Given the description of an element on the screen output the (x, y) to click on. 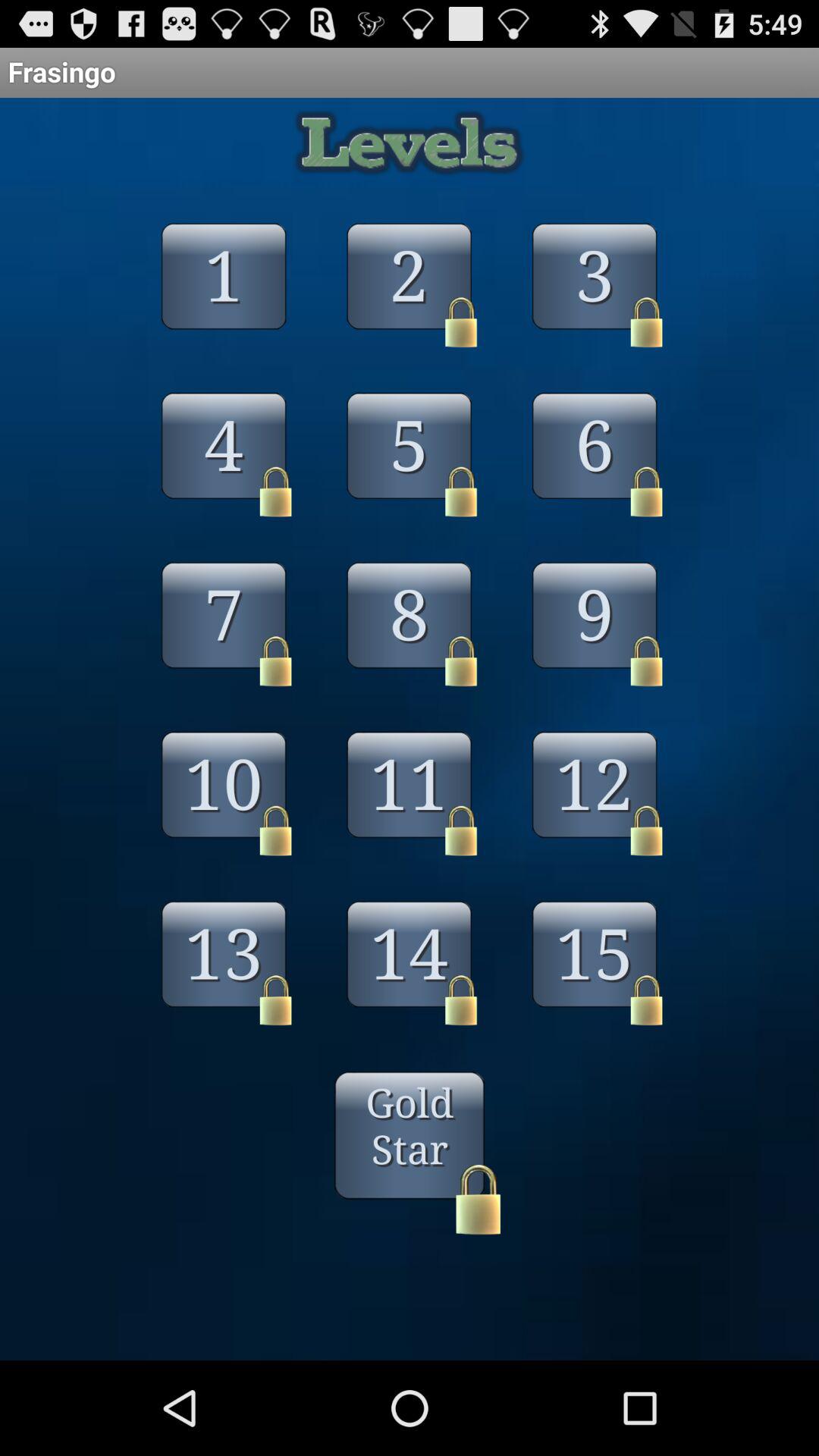
click on the lock which is with 4th number (275, 491)
select the lock image below 3 on the web page (646, 322)
click on the lock at the bottom written with gold star (478, 1199)
select the lock image below the text 15 on the web page (646, 1000)
select the lock image below 12 on the web page (646, 831)
click on the button 7 (223, 636)
click on 14 above gold star (409, 974)
click on the lock which is with 9 number (646, 660)
